Given the description of an element on the screen output the (x, y) to click on. 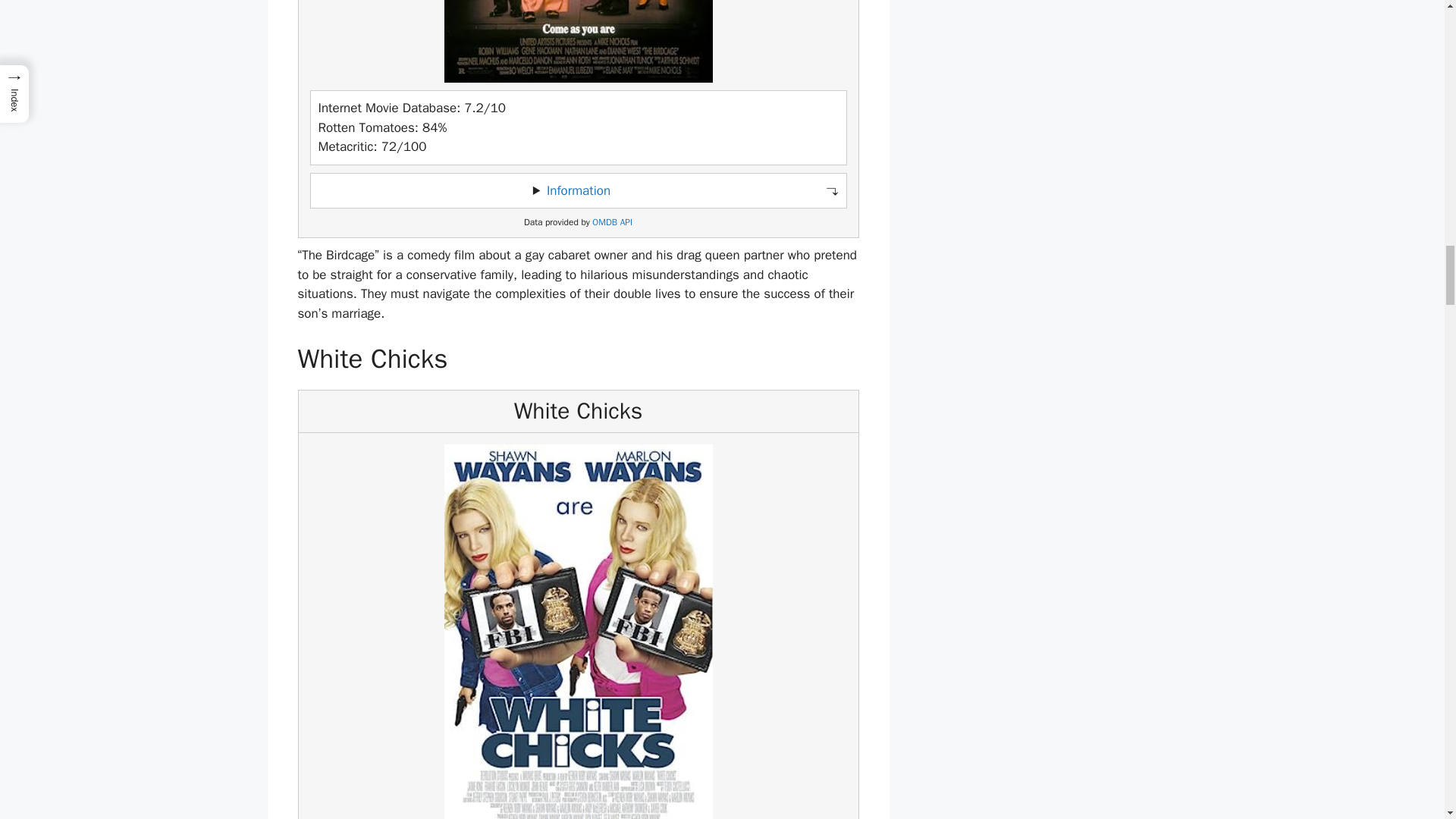
OMDB API (611, 222)
Toggle information (578, 190)
Information (578, 190)
Open Movie Database API (611, 222)
